Given the description of an element on the screen output the (x, y) to click on. 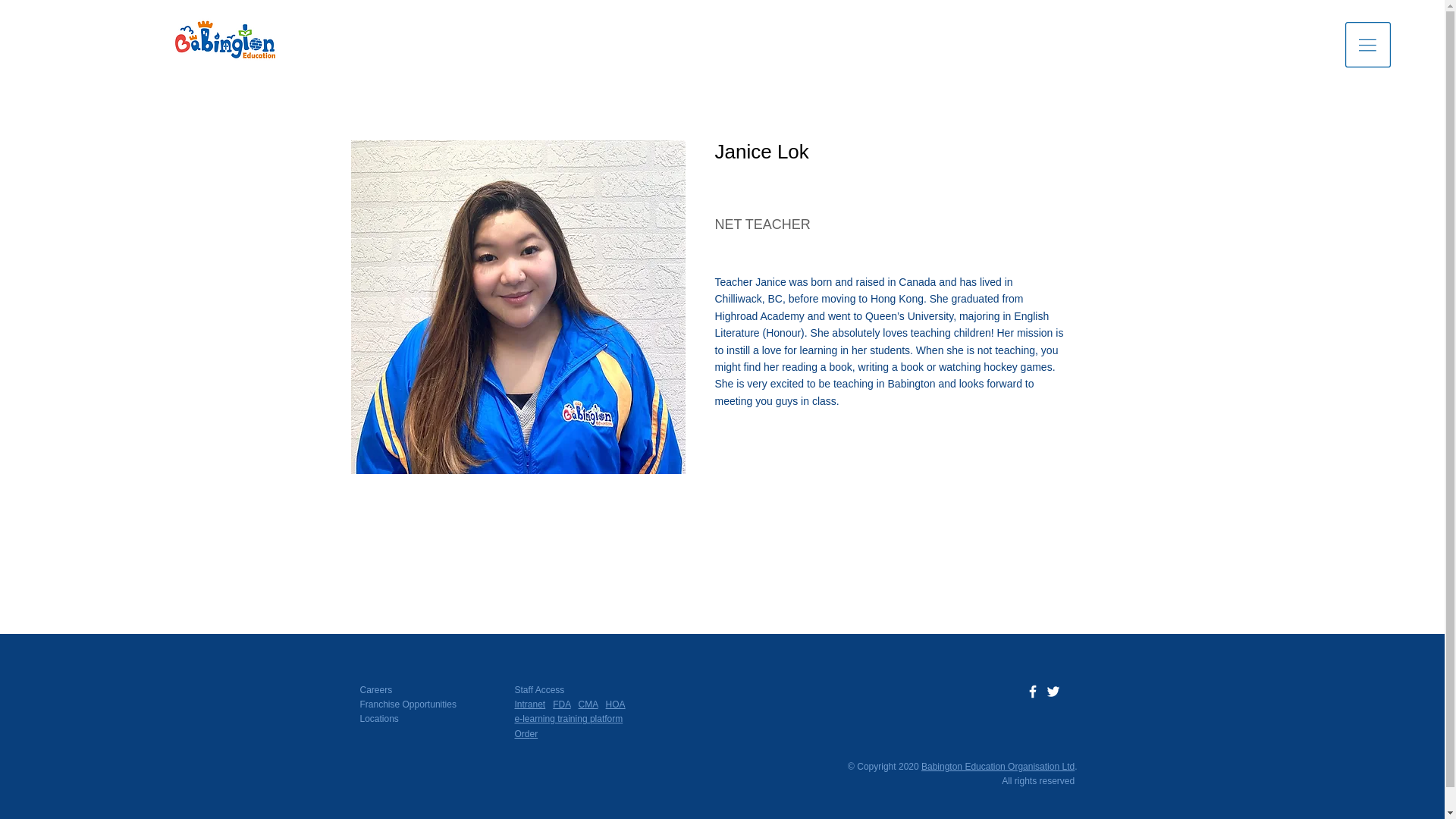
Careers (375, 689)
Babington Education Organisation Ltd (997, 766)
Order (525, 733)
Staff Access (538, 689)
Franchise Opportunities (407, 704)
HOA (615, 704)
FDA (561, 704)
CMA (588, 704)
Intranet (528, 704)
BE26 Teacher Janice.jpg (517, 307)
